Given the description of an element on the screen output the (x, y) to click on. 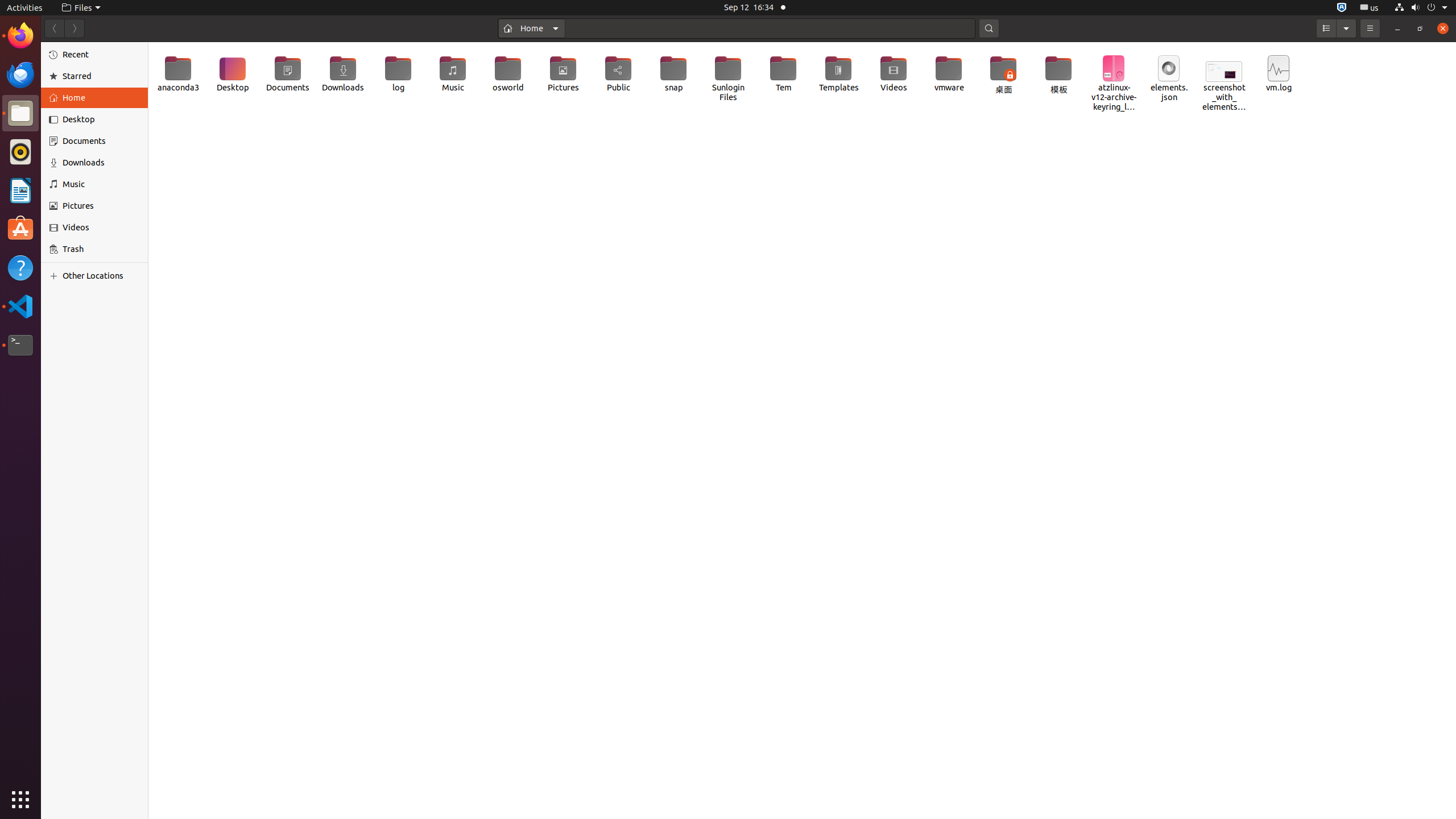
vmware Element type: canvas (948, 73)
Close Element type: push-button (1442, 27)
Home Element type: push-button (531, 28)
vm.log Element type: canvas (1278, 73)
